Given the description of an element on the screen output the (x, y) to click on. 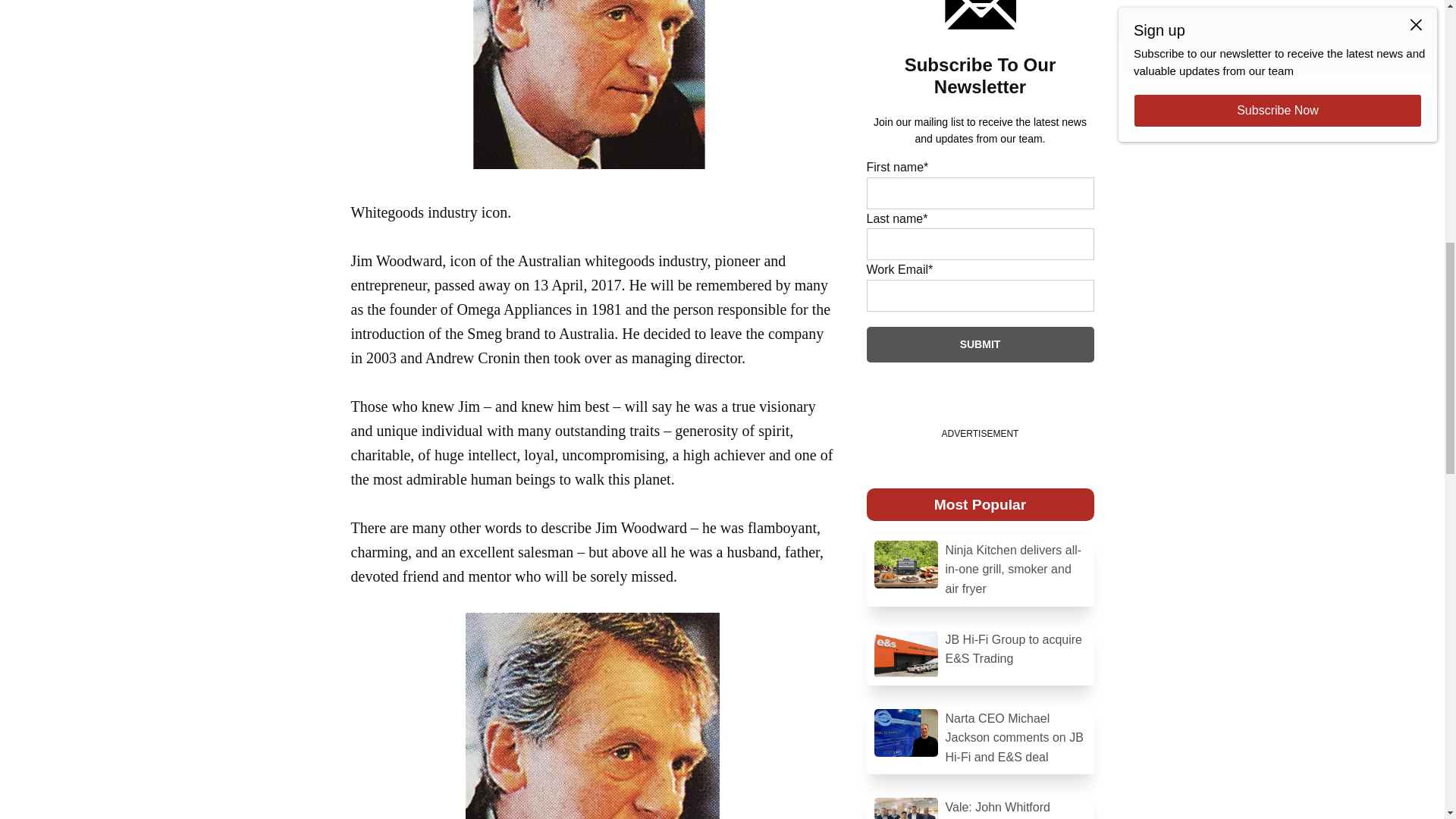
Submit (979, 344)
3rd party ad content (722, 45)
